Given the description of an element on the screen output the (x, y) to click on. 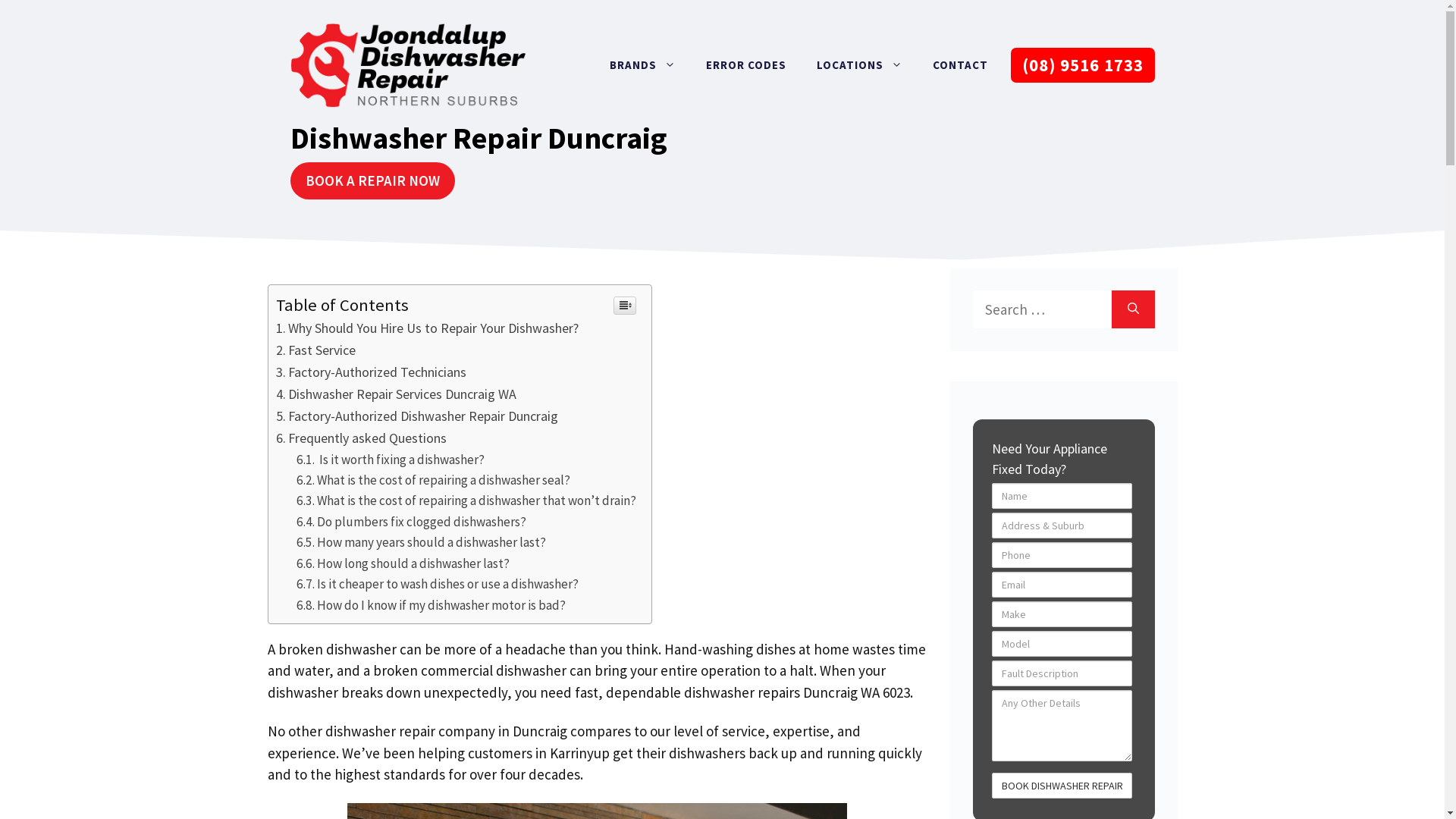
Is it cheaper to wash dishes or use a dishwasher? Element type: text (437, 583)
Dishwasher Repair Services Duncraig WA Element type: text (396, 393)
CONTACT Element type: text (960, 64)
ERROR CODES Element type: text (745, 64)
Why Should You Hire Us to Repair Your Dishwasher? Element type: text (427, 327)
What is the cost of repairing a dishwasher seal? Element type: text (433, 479)
BOOK A REPAIR NOW Element type: text (371, 180)
Frequently asked Questions Element type: text (361, 437)
How long should a dishwasher last? Element type: text (402, 563)
Factory-Authorized Technicians Element type: text (371, 371)
Fast Service Element type: text (316, 349)
Search for: Element type: hover (1041, 308)
Factory-Authorized Dishwasher Repair Duncraig Element type: text (417, 415)
BRANDS Element type: text (642, 64)
(08) 9516 1733 Element type: text (1082, 64)
How do I know if my dishwasher motor is bad? Element type: text (430, 604)
Do plumbers fix clogged dishwashers? Element type: text (411, 521)
How many years should a dishwasher last? Element type: text (421, 541)
 Is it worth fixing a dishwasher? Element type: text (390, 459)
Dishwasher Repair Joondalup Element type: hover (406, 63)
BOOK DISHWASHER REPAIR Element type: text (1061, 785)
Dishwasher Repair Joondalup Element type: hover (406, 64)
LOCATIONS Element type: text (858, 64)
